Given the description of an element on the screen output the (x, y) to click on. 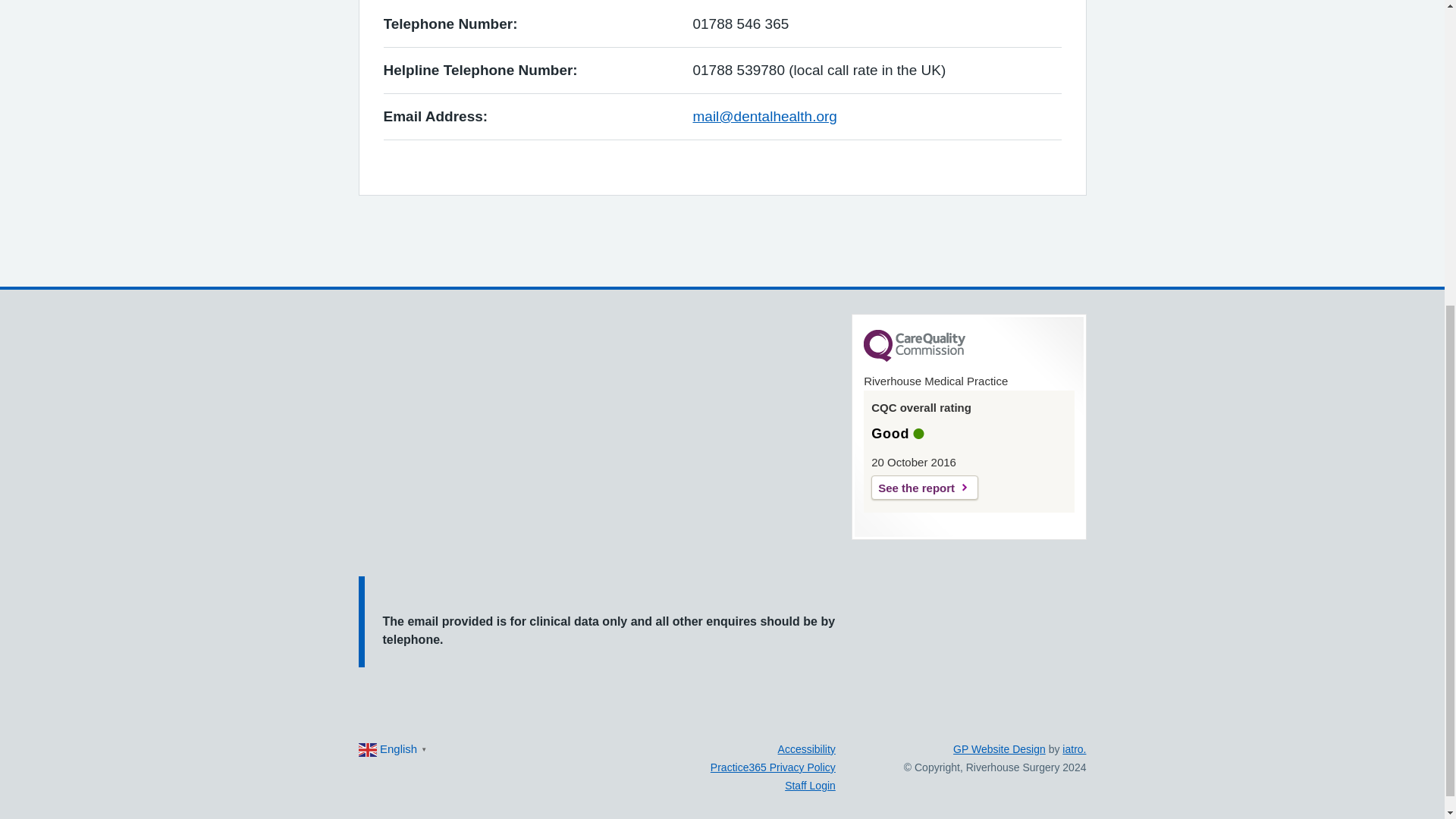
Accessibility (806, 748)
Practice365 Privacy Policy (772, 767)
Staff Login (809, 785)
GP Website Design (999, 748)
CQC Logo (914, 357)
See the report (924, 487)
iatro. (1074, 748)
